Given the description of an element on the screen output the (x, y) to click on. 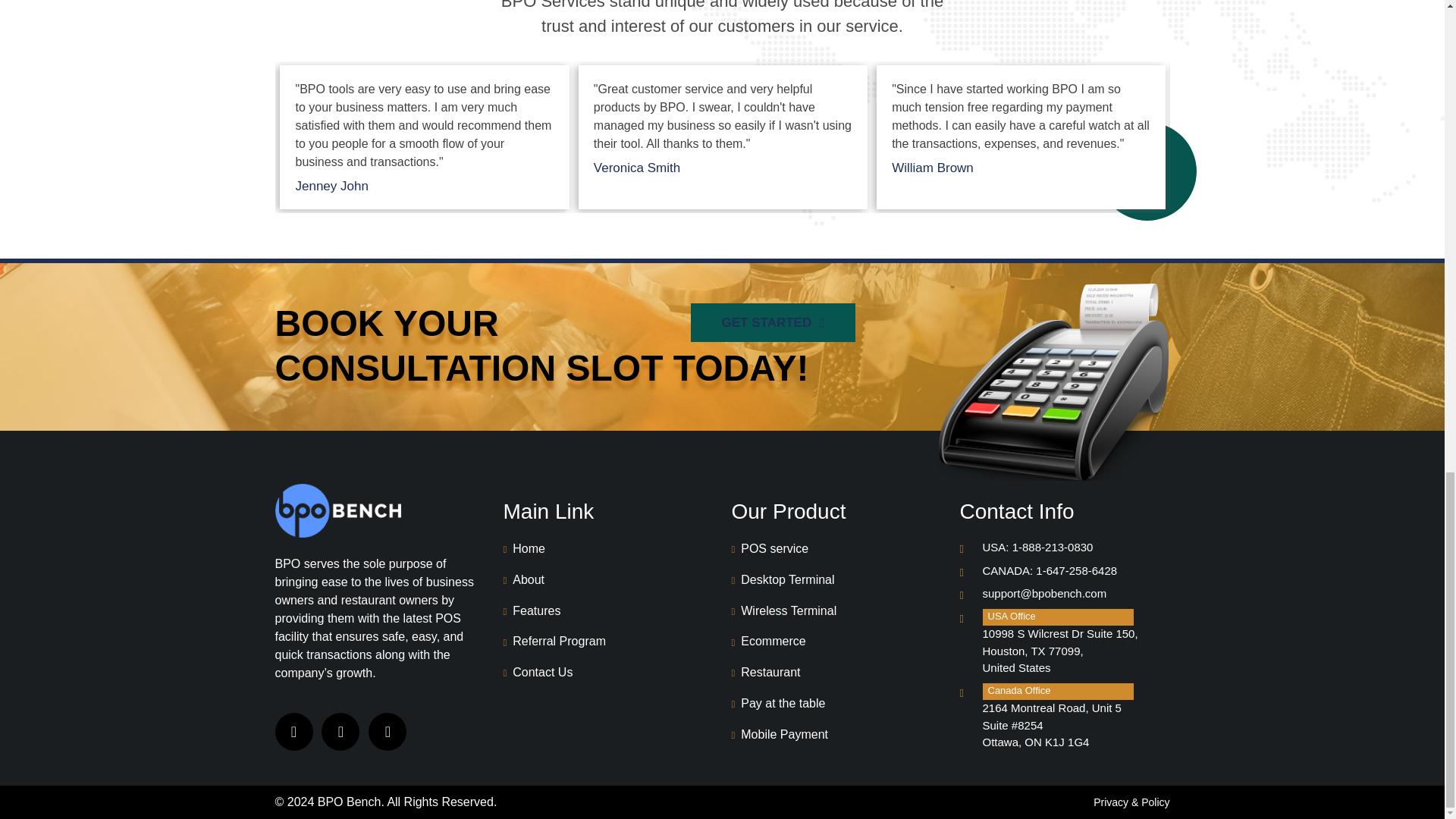
POS service (769, 548)
Contact Us (538, 671)
About (523, 579)
Home (523, 548)
GET STARTED (773, 323)
Wireless Terminal (782, 610)
Features (531, 610)
Ecommerce (767, 640)
Referral Program (554, 640)
Desktop Terminal (782, 579)
